Given the description of an element on the screen output the (x, y) to click on. 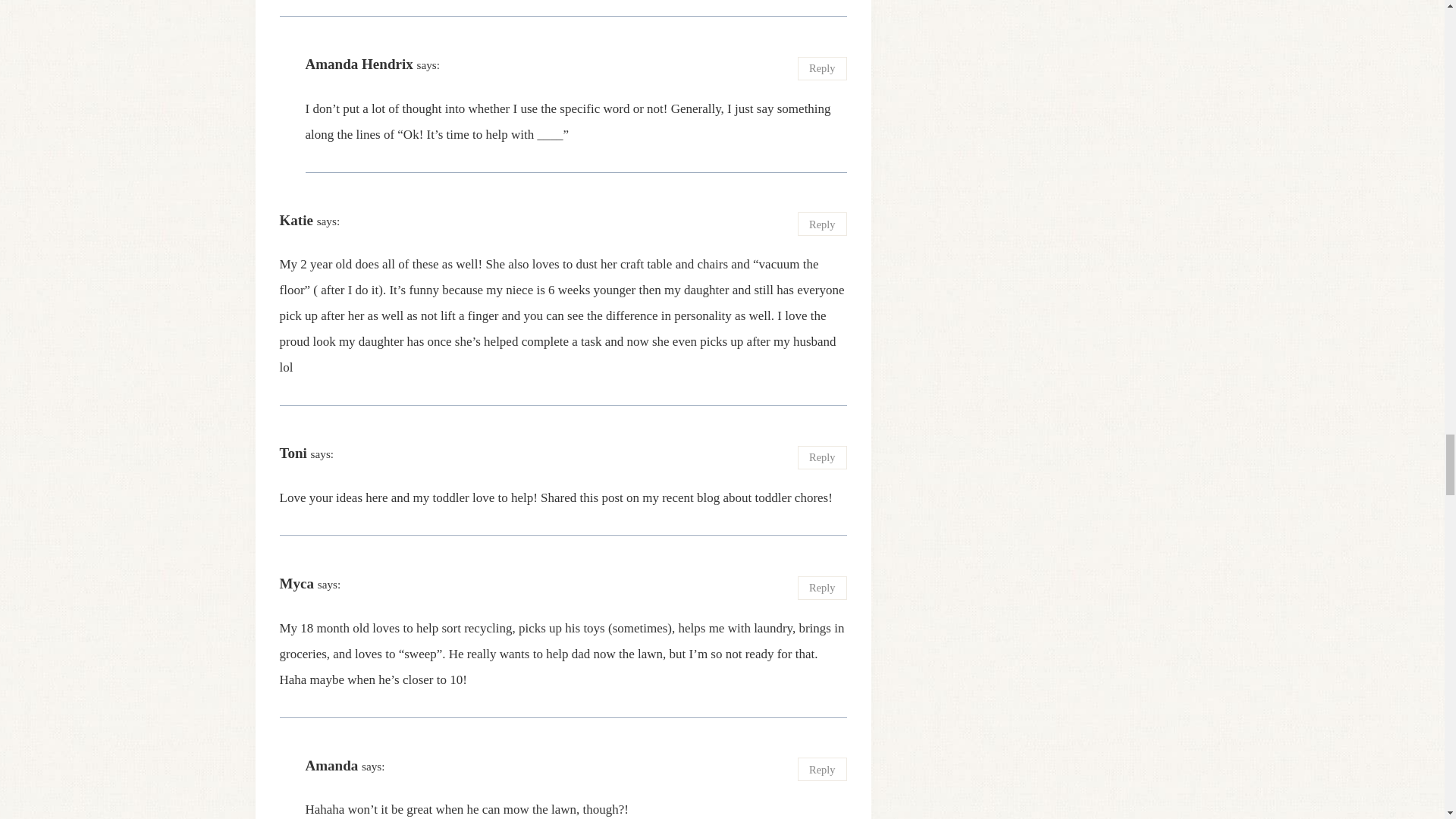
Reply (822, 68)
Reply (822, 223)
Amanda Hendrix (358, 64)
